Given the description of an element on the screen output the (x, y) to click on. 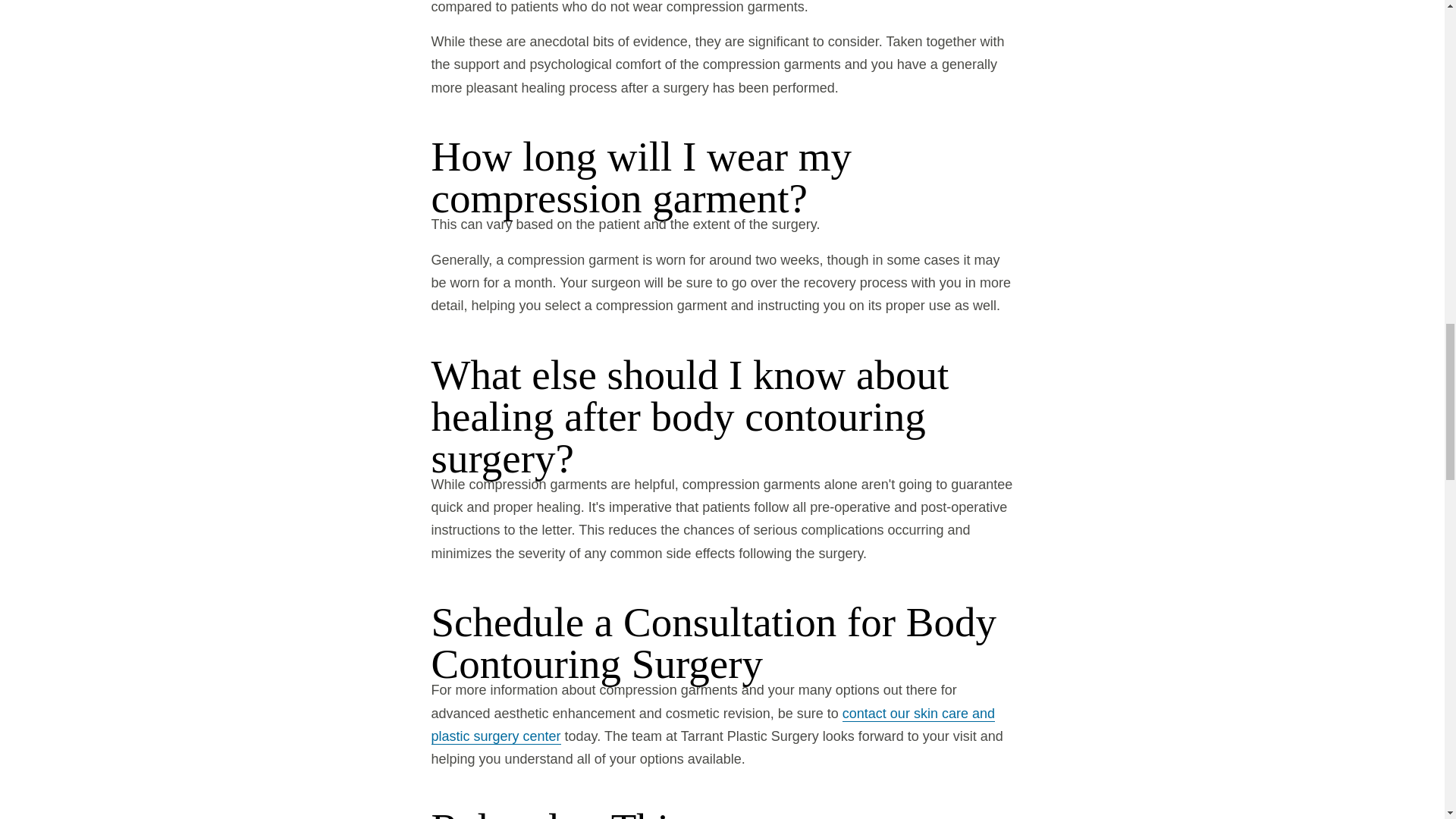
contact our skin care and plastic surgery center (712, 724)
